Given the description of an element on the screen output the (x, y) to click on. 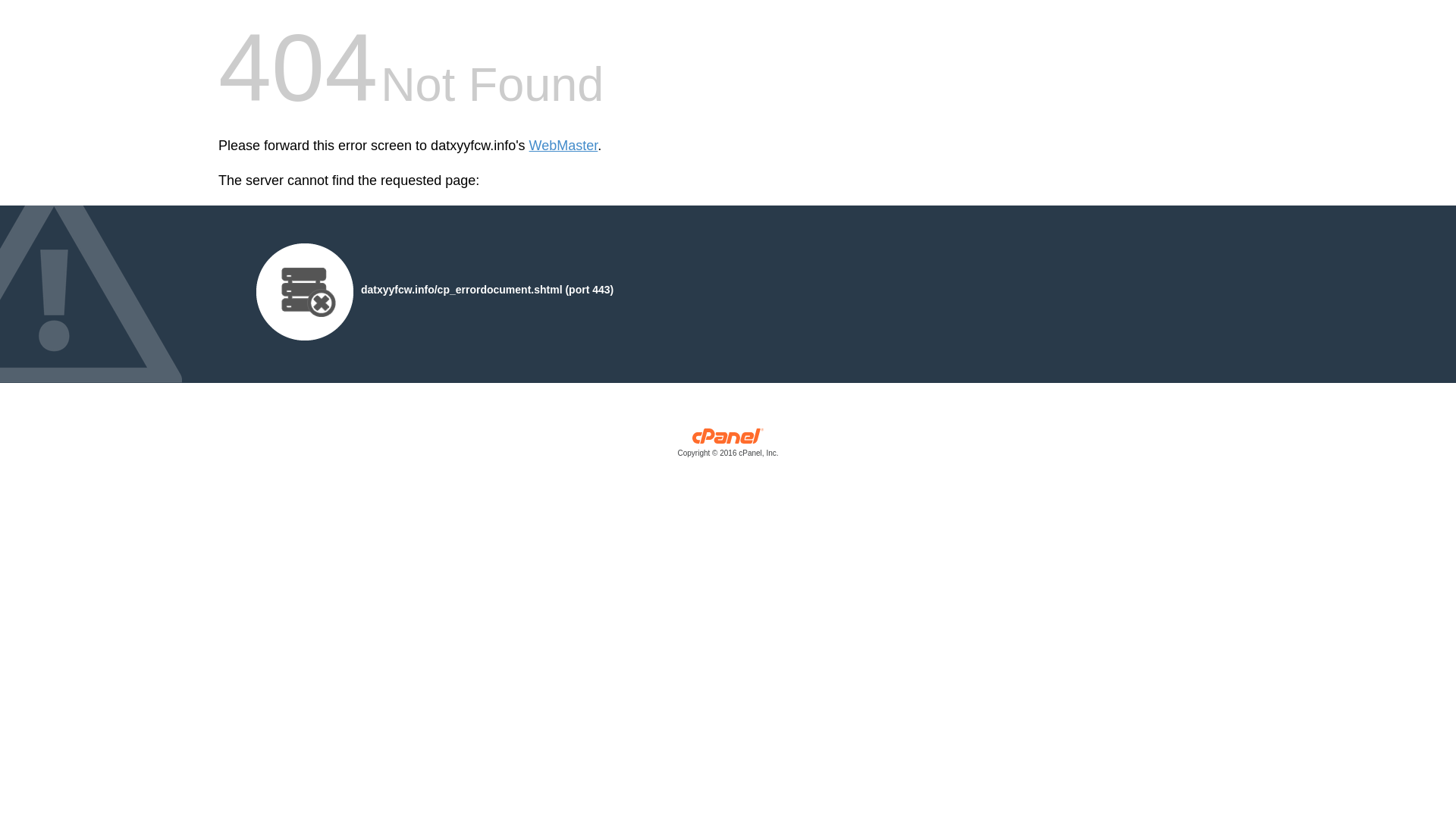
cPanel, Inc. (727, 446)
WebMaster (563, 145)
